Given the description of an element on the screen output the (x, y) to click on. 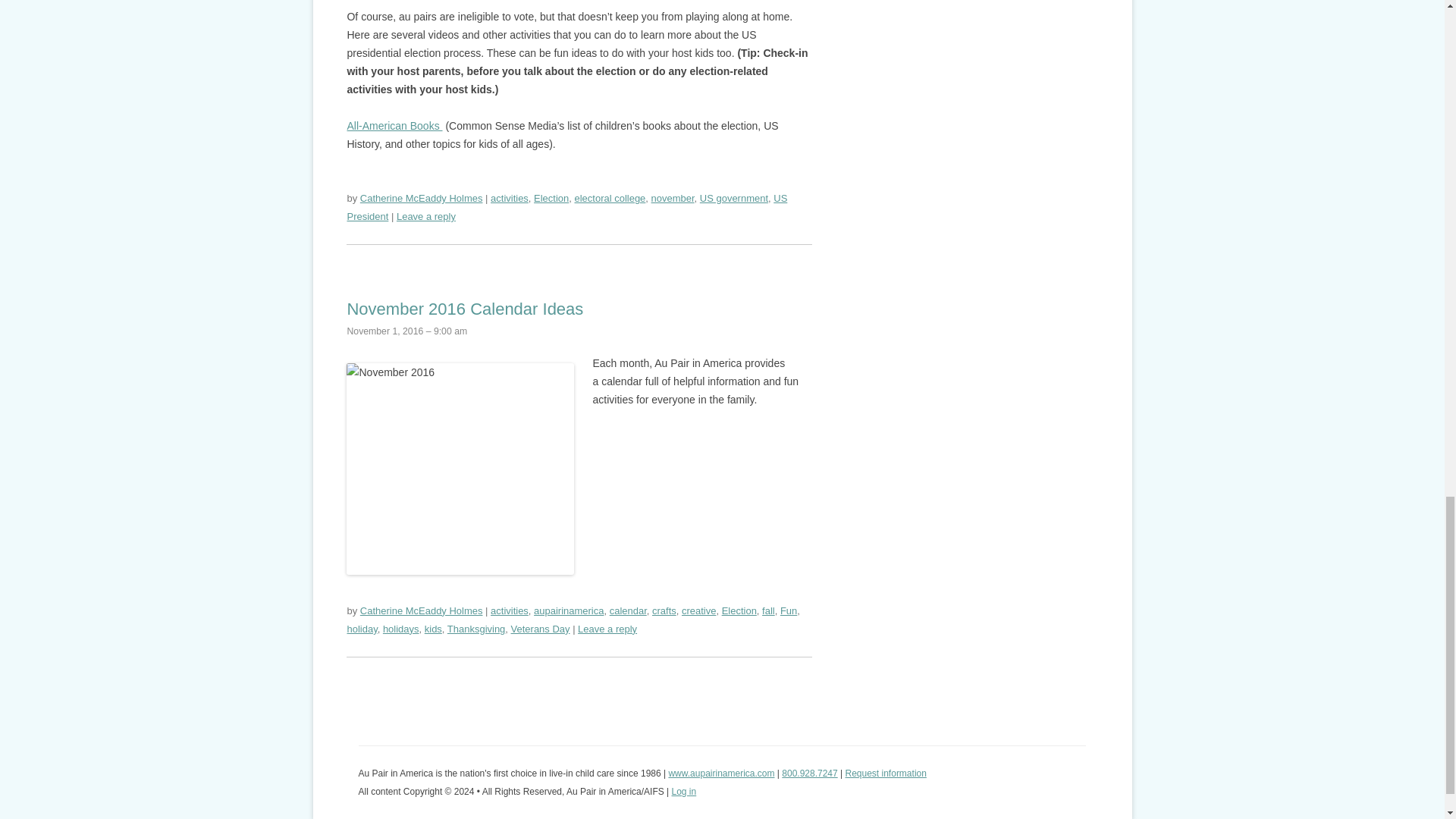
activities (509, 197)
Election (739, 610)
Catherine McEaddy Holmes (421, 197)
All-American Books (394, 125)
Catherine McEaddy Holmes (421, 610)
Fun (788, 610)
US government (734, 197)
electoral college (610, 197)
aupairinamerica (569, 610)
US President (566, 206)
November 2016 Calendar Ideas (464, 308)
fall (767, 610)
calendar (628, 610)
Leave a reply (425, 215)
november (672, 197)
